Given the description of an element on the screen output the (x, y) to click on. 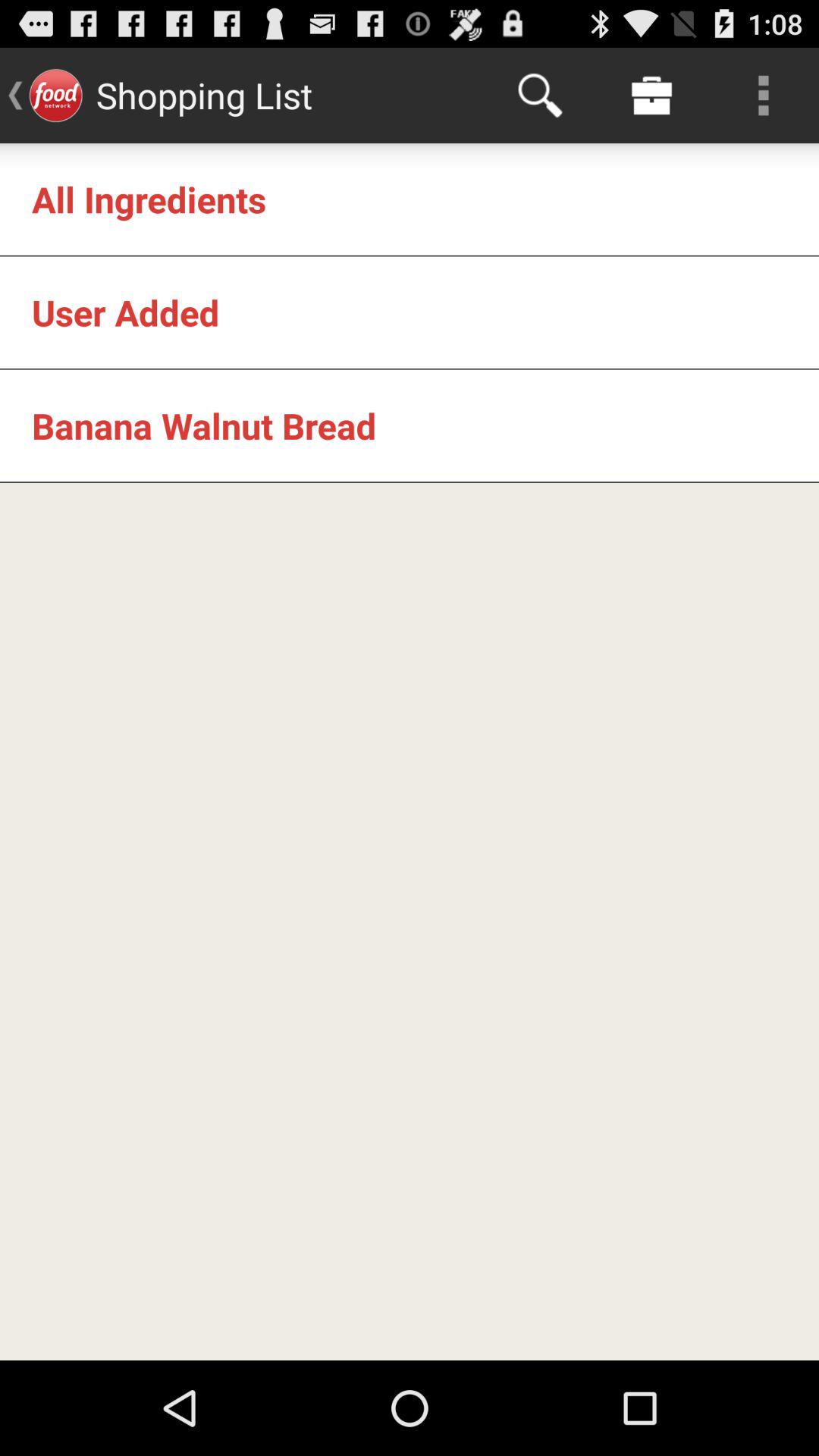
swipe until banana walnut bread (203, 425)
